Given the description of an element on the screen output the (x, y) to click on. 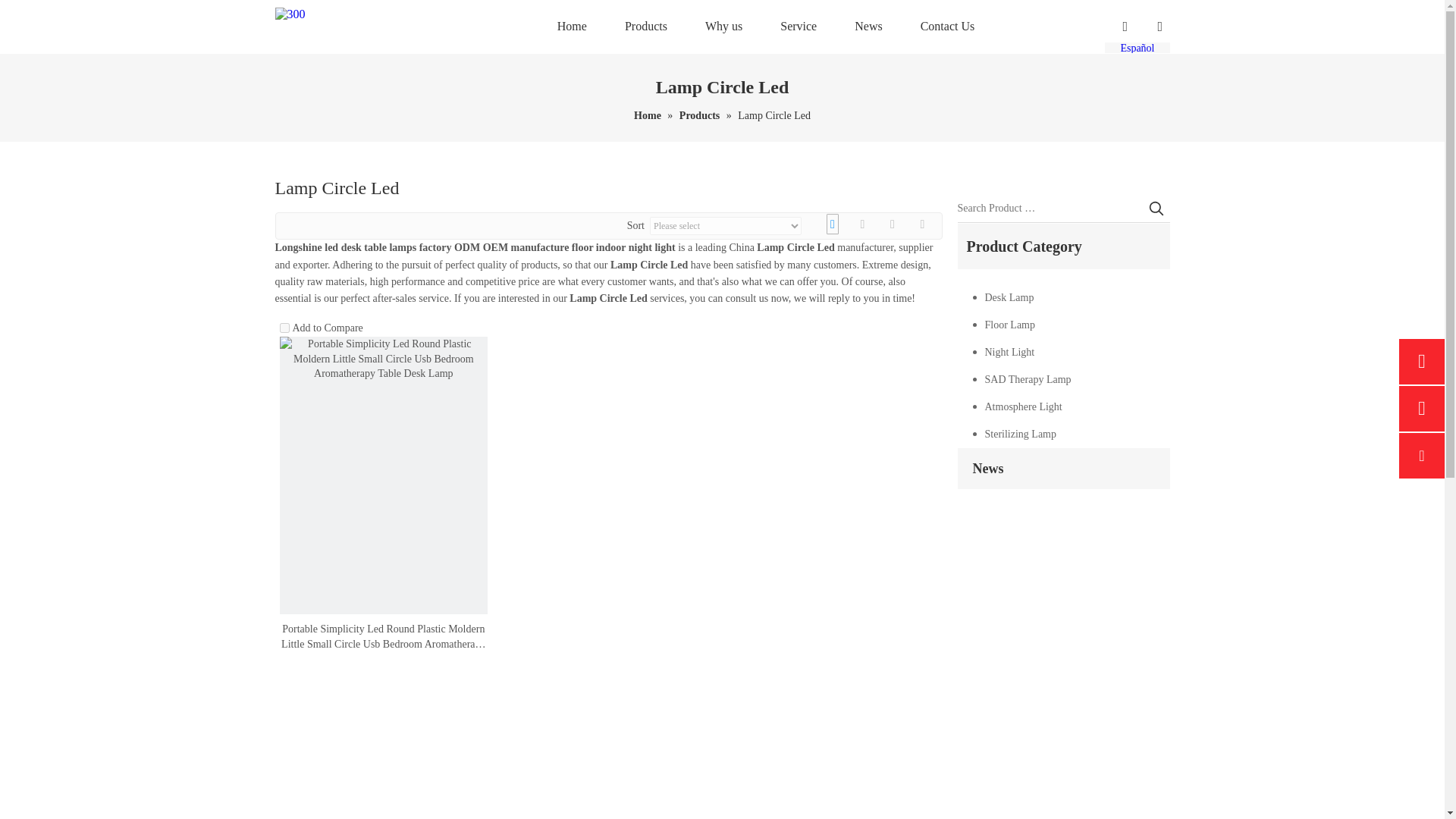
Why us (723, 27)
Night Light (1070, 352)
Products (700, 115)
News (868, 27)
Desk Lamp (1070, 298)
Service (798, 27)
Products (645, 27)
Contact Us (947, 27)
Home (648, 115)
Home (571, 27)
Floor Lamp (1070, 325)
on (283, 327)
